Given the description of an element on the screen output the (x, y) to click on. 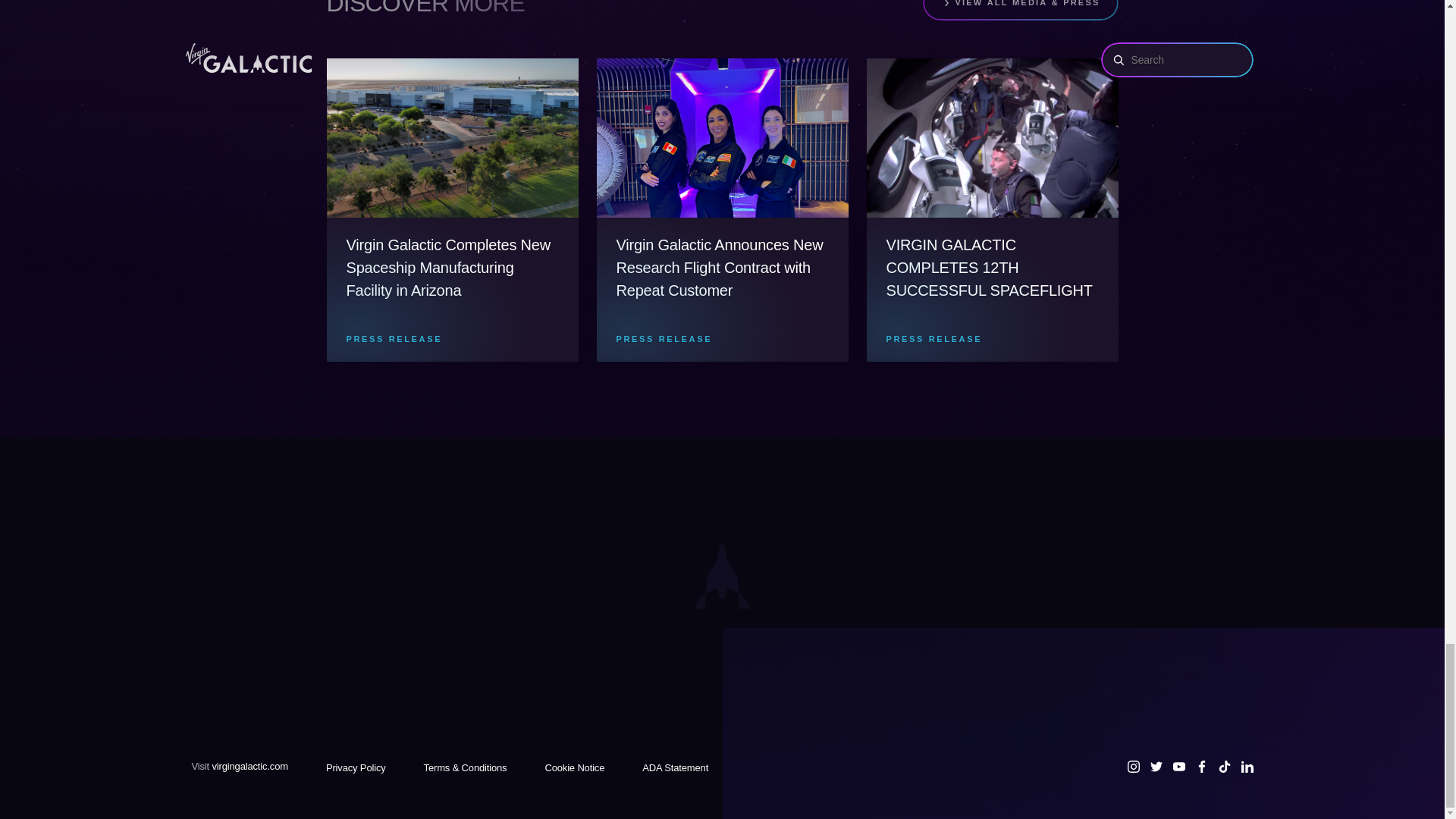
LinkedIn (1246, 766)
Visit virgingalactic.com (238, 766)
Twitter (1155, 766)
Facebook (1201, 766)
Privacy Policy (355, 767)
Cookie Notice (574, 767)
ADA Statement (674, 767)
Youtube (1178, 766)
Instagram (1132, 766)
TikTok (1223, 766)
